Given the description of an element on the screen output the (x, y) to click on. 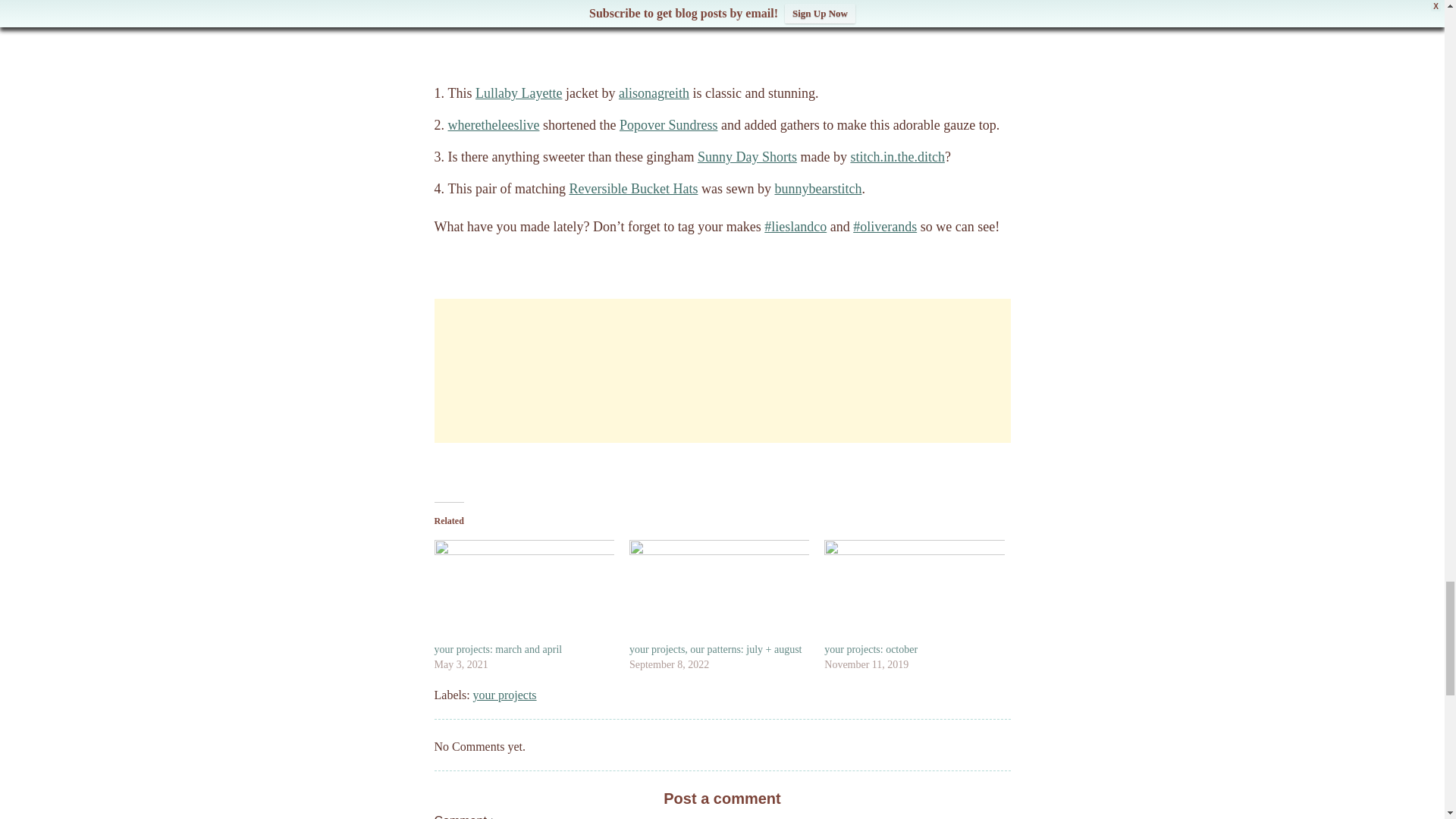
your projects: october (870, 649)
your projects: october (914, 590)
your projects: march and april (522, 590)
your projects: march and april (497, 649)
